Given the description of an element on the screen output the (x, y) to click on. 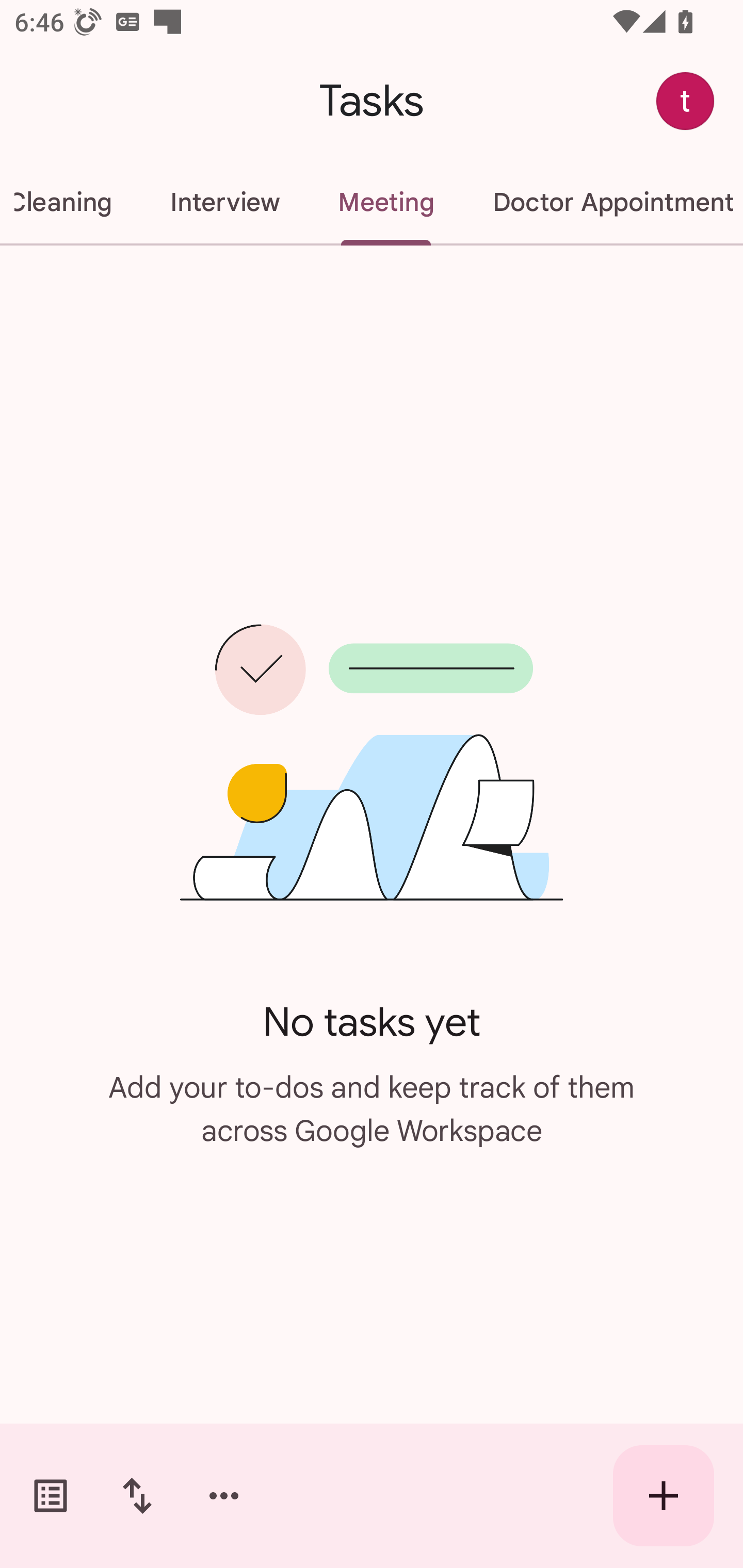
Cleaning (70, 202)
Interview (224, 202)
Doctor Appointment (603, 202)
Switch task lists (50, 1495)
Create new task (663, 1495)
Change sort order (136, 1495)
More options (223, 1495)
